Given the description of an element on the screen output the (x, y) to click on. 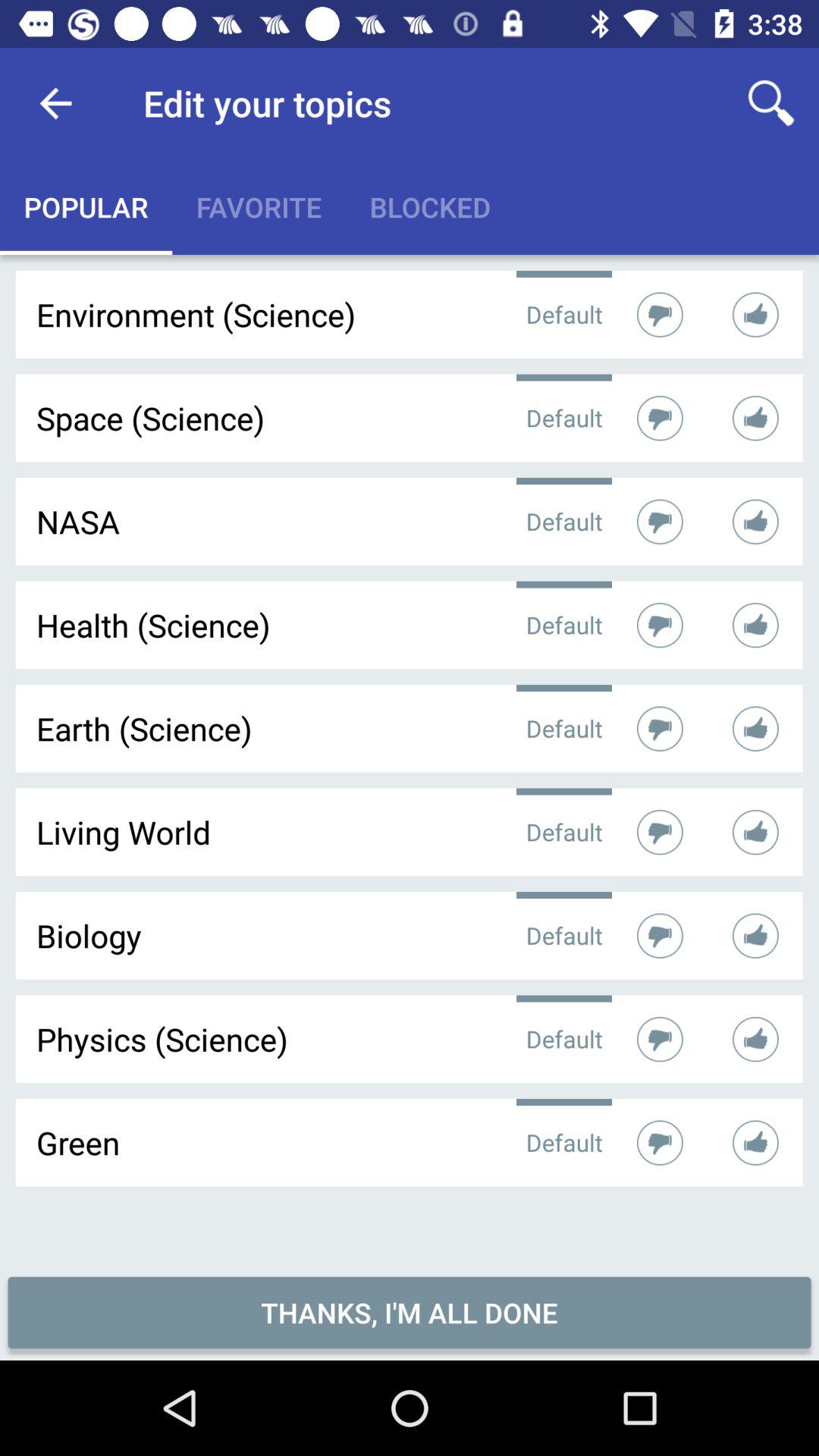
turn on icon to the right of edit your topics icon (771, 103)
